Given the description of an element on the screen output the (x, y) to click on. 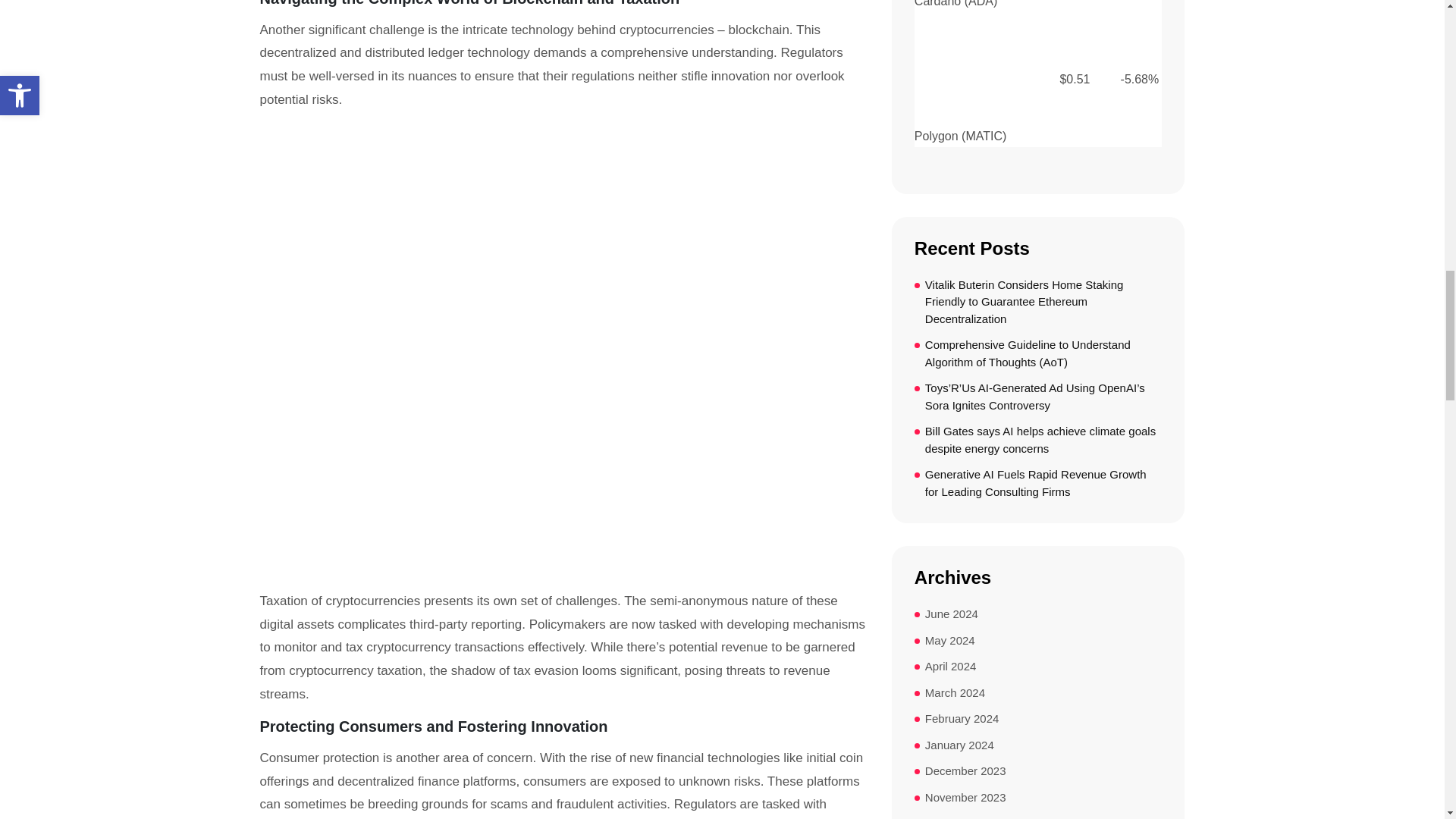
May 2024 (949, 641)
April 2024 (950, 666)
January 2024 (959, 745)
June 2024 (951, 614)
February 2024 (961, 719)
March 2024 (954, 692)
November 2023 (965, 797)
December 2023 (965, 771)
